Given the description of an element on the screen output the (x, y) to click on. 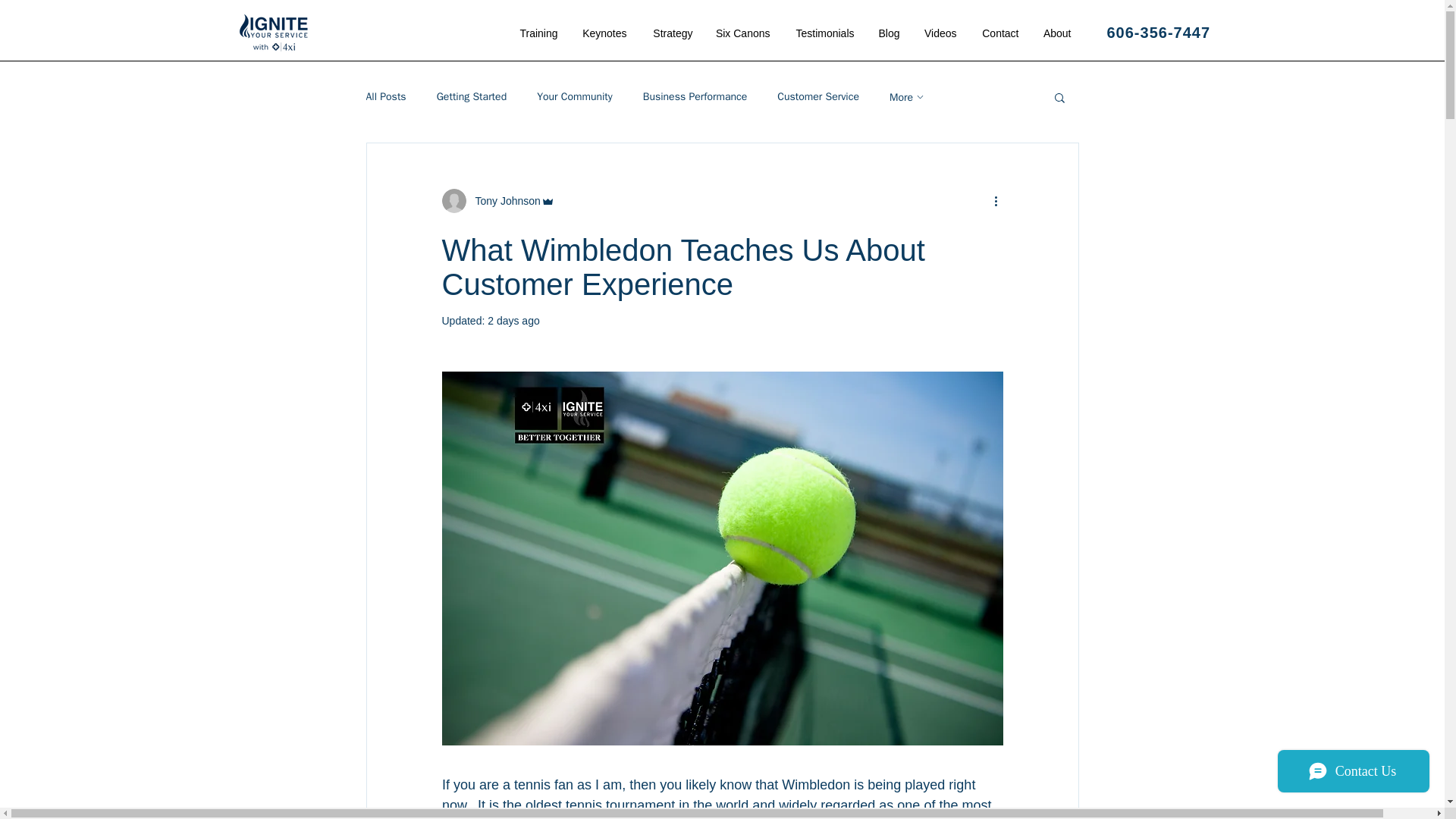
Wix Chat (1356, 774)
About (1055, 33)
Strategy (671, 33)
Six Canons (741, 33)
Training (537, 33)
Blog (888, 33)
Your Community (574, 97)
All Posts (385, 97)
Business Performance (695, 97)
Contact (998, 33)
Tony Johnson (497, 200)
Getting Started (471, 97)
Keynotes (603, 33)
Tony Johnson (502, 200)
2 days ago (513, 320)
